Given the description of an element on the screen output the (x, y) to click on. 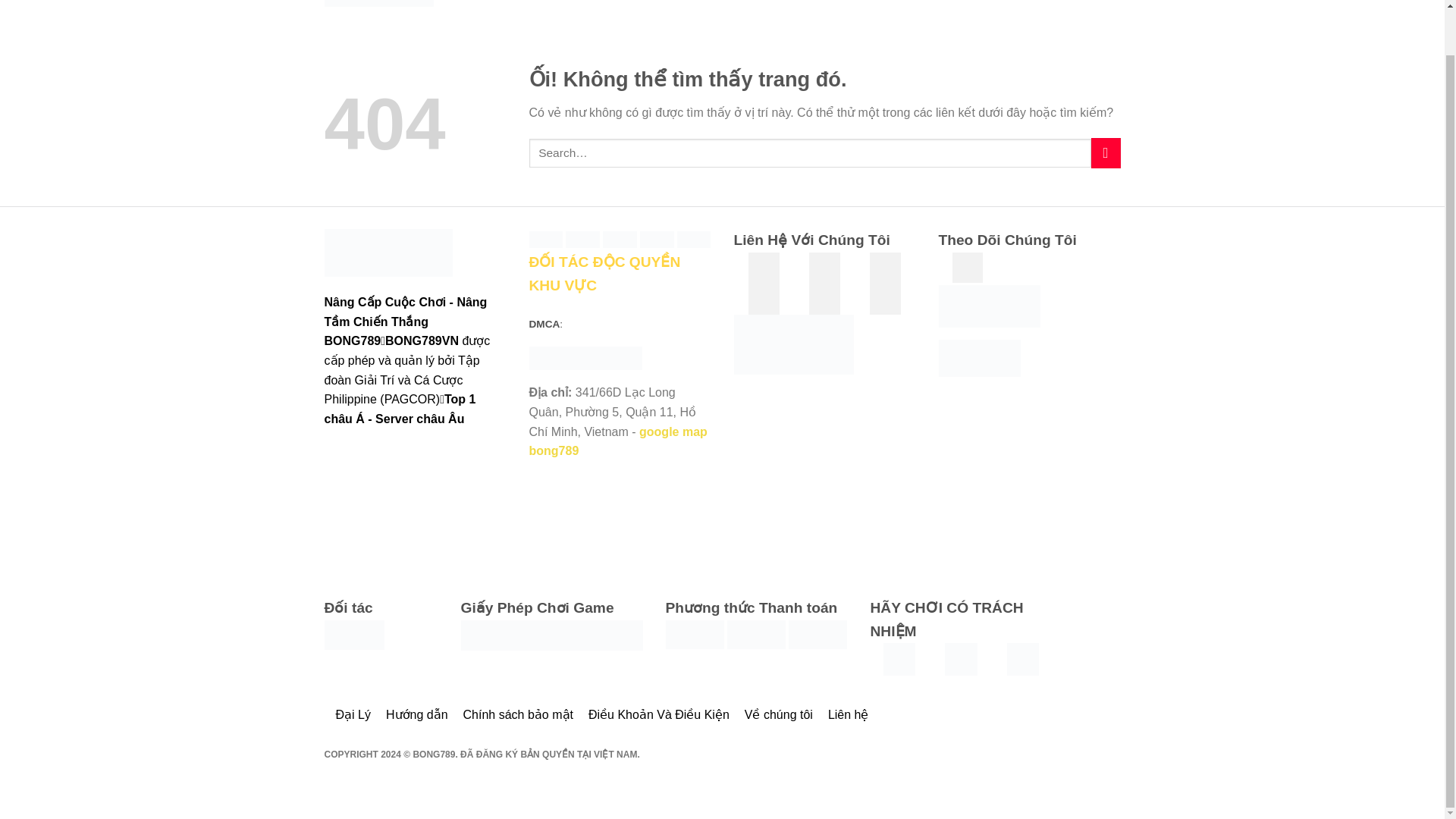
DMCA.com Protection Status (585, 357)
BONG789 (378, 3)
google map bong789 (618, 441)
BLOG (597, 7)
